Given the description of an element on the screen output the (x, y) to click on. 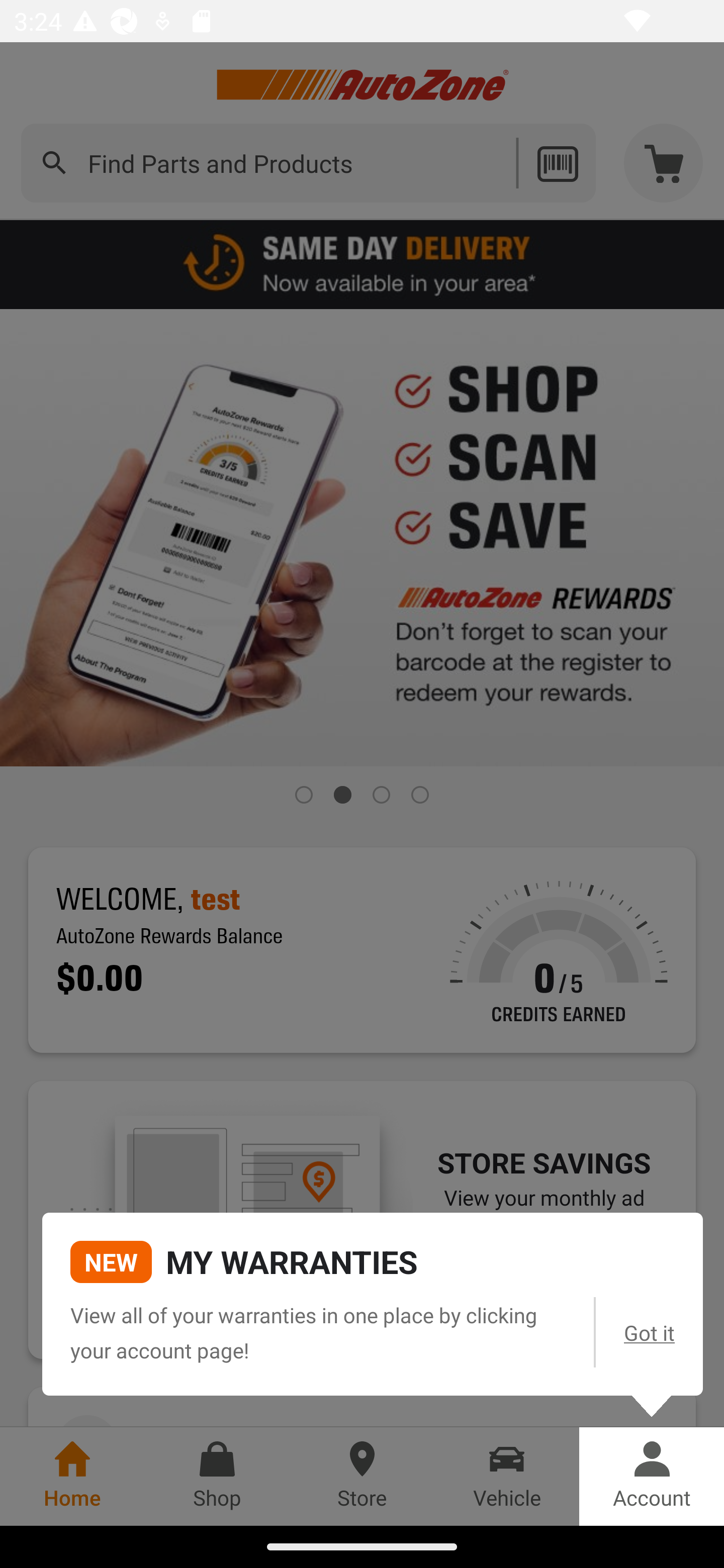
Got it (649, 1331)
Account (651, 1475)
